Given the description of an element on the screen output the (x, y) to click on. 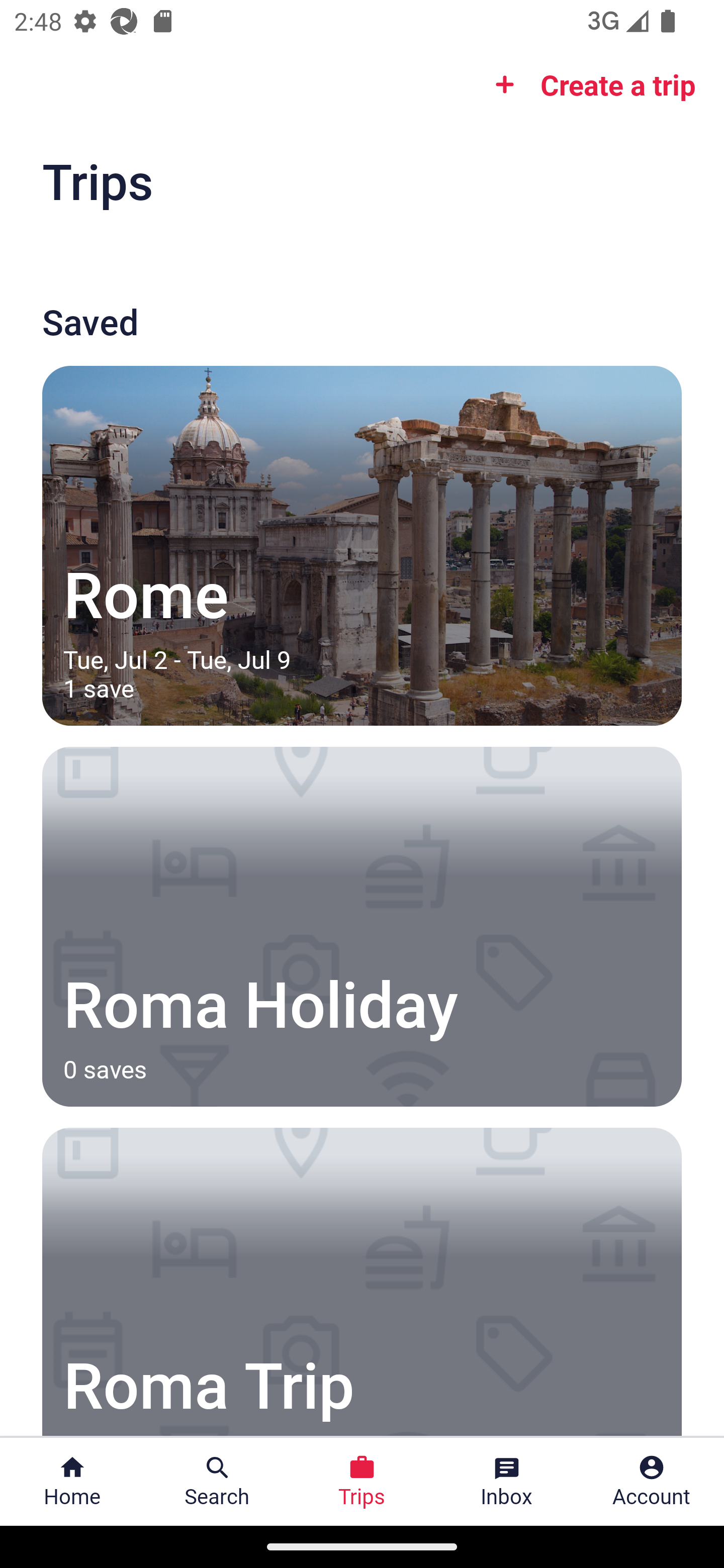
Create a trip Create a trip Button (589, 84)
Roma Trip. 0 saves.  Button Roma Trip 0 saves (361, 1281)
Home Home Button (72, 1481)
Search Search Button (216, 1481)
Inbox Inbox Button (506, 1481)
Account Profile. Button (651, 1481)
